Given the description of an element on the screen output the (x, y) to click on. 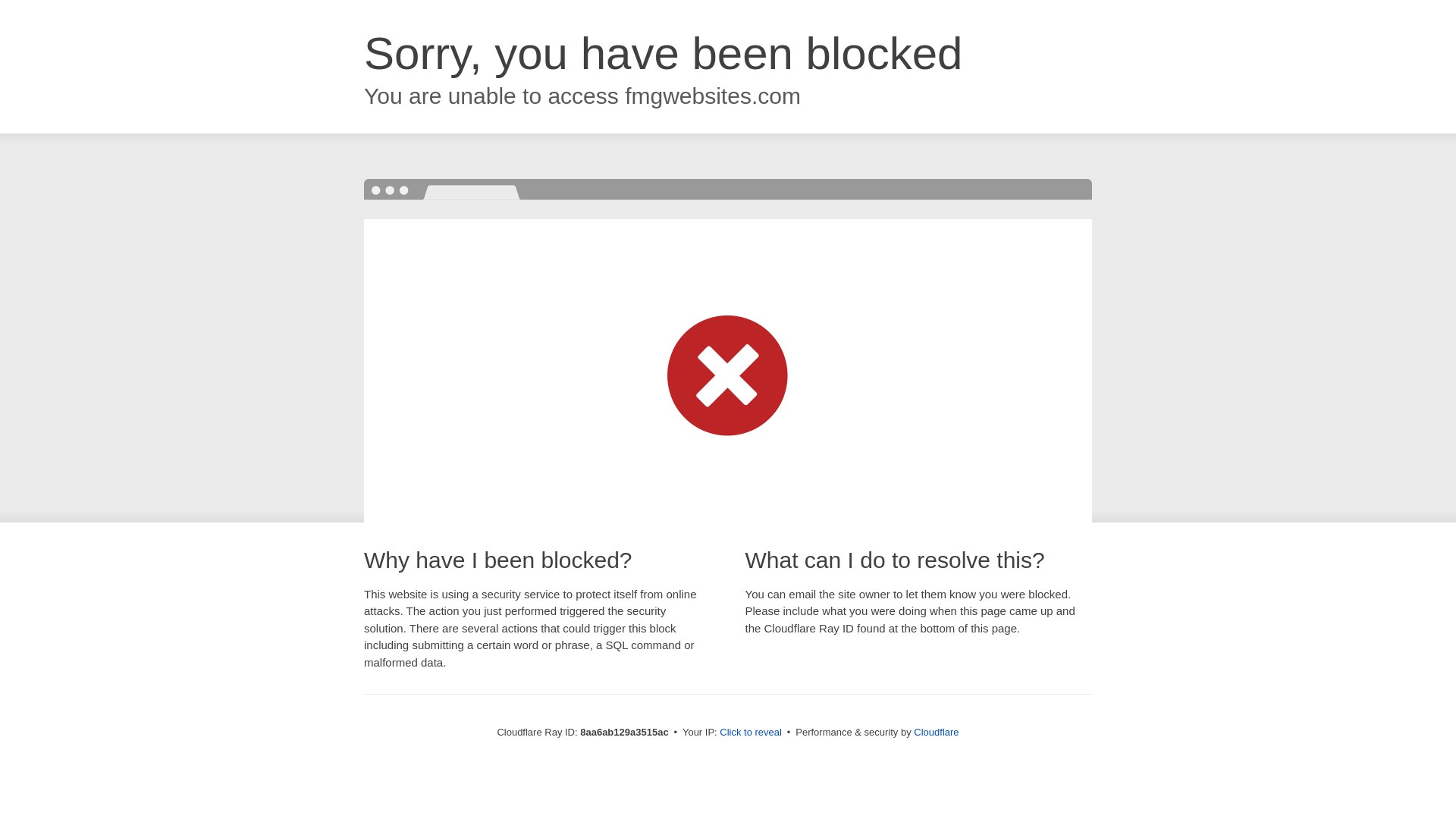
Click to reveal (750, 732)
Cloudflare (936, 731)
